Given the description of an element on the screen output the (x, y) to click on. 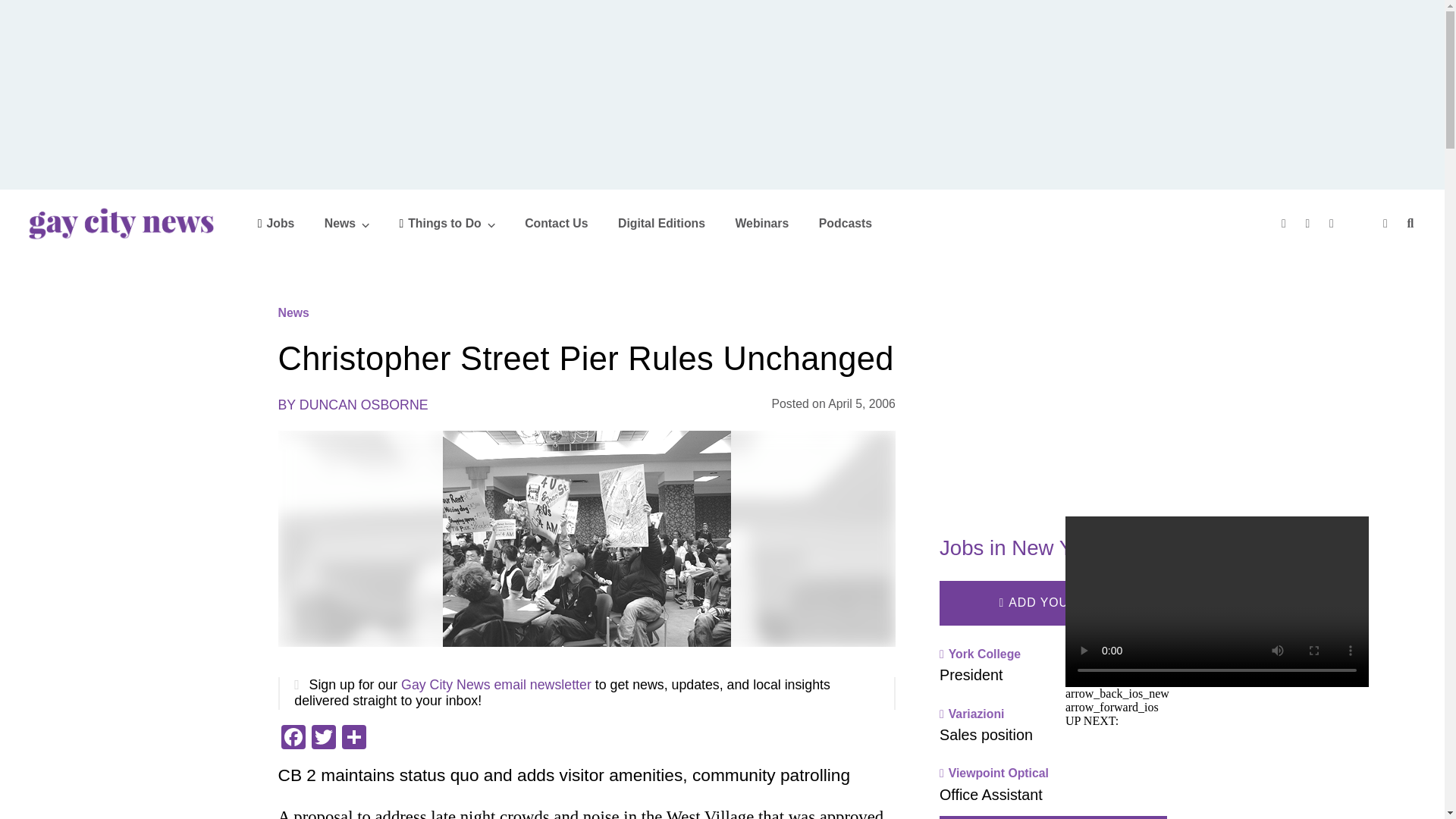
Digital Editions (660, 223)
Things to Do (446, 223)
Jobs (276, 223)
Webinars (762, 223)
News (346, 223)
Contact Us (556, 223)
Podcasts (845, 223)
Twitter (322, 738)
Facebook (292, 738)
